Given the description of an element on the screen output the (x, y) to click on. 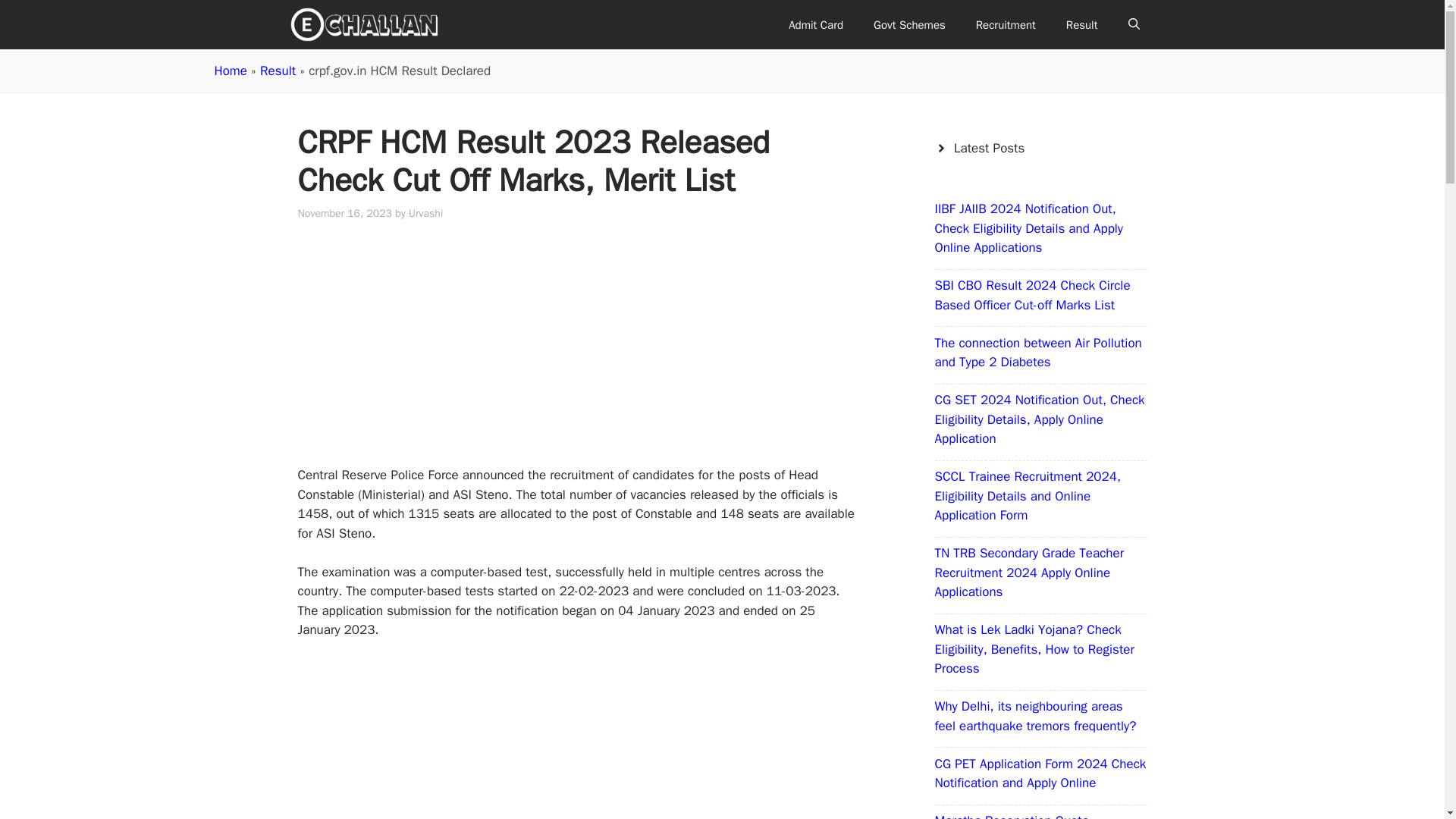
eChallan (363, 24)
Recruitment (1005, 23)
Result (1082, 23)
Result (277, 71)
Home (230, 71)
Govt Schemes (909, 23)
The connection between Air Pollution and Type 2 Diabetes (1037, 352)
